Given the description of an element on the screen output the (x, y) to click on. 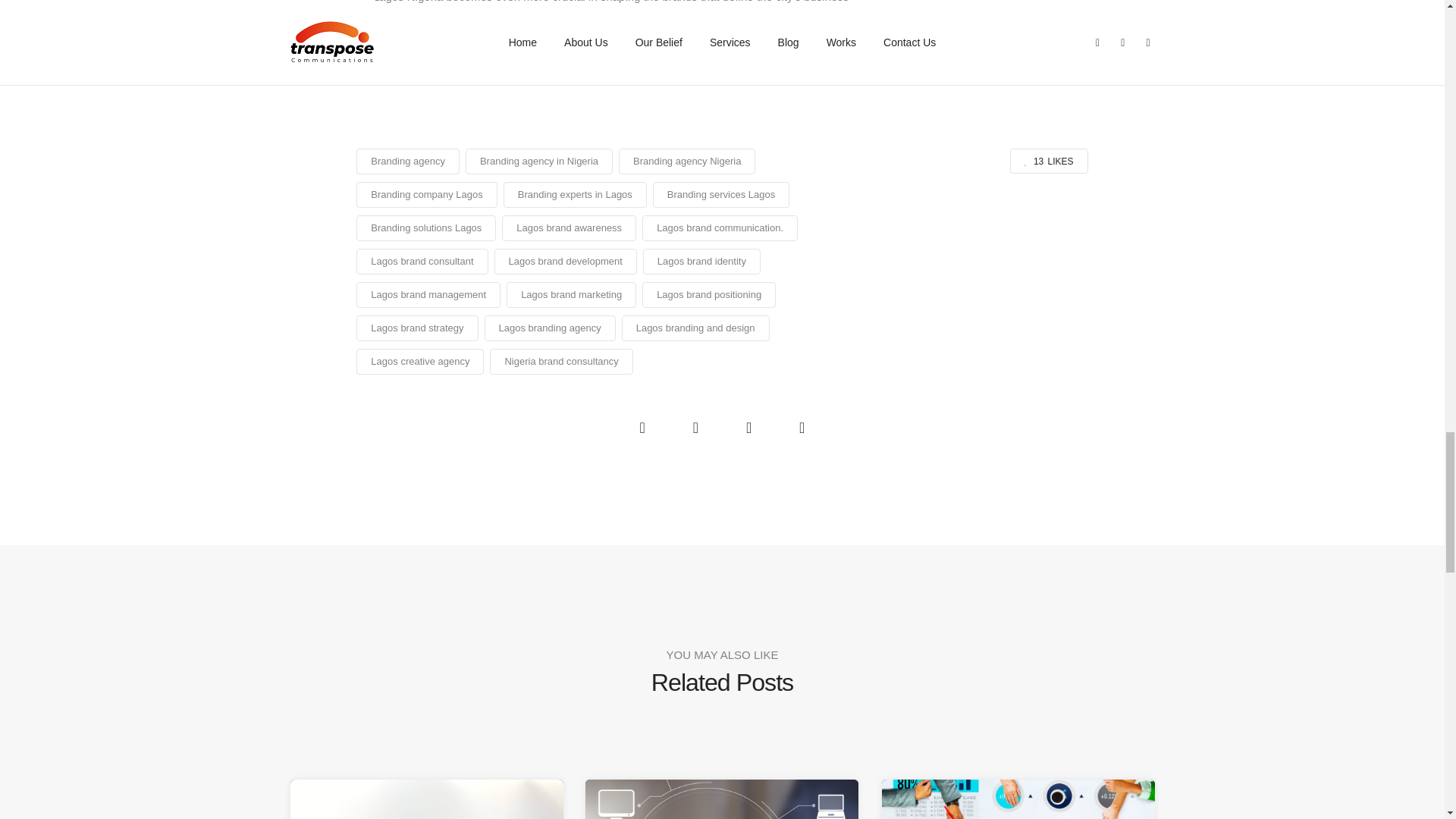
Like (1048, 160)
